Given the description of an element on the screen output the (x, y) to click on. 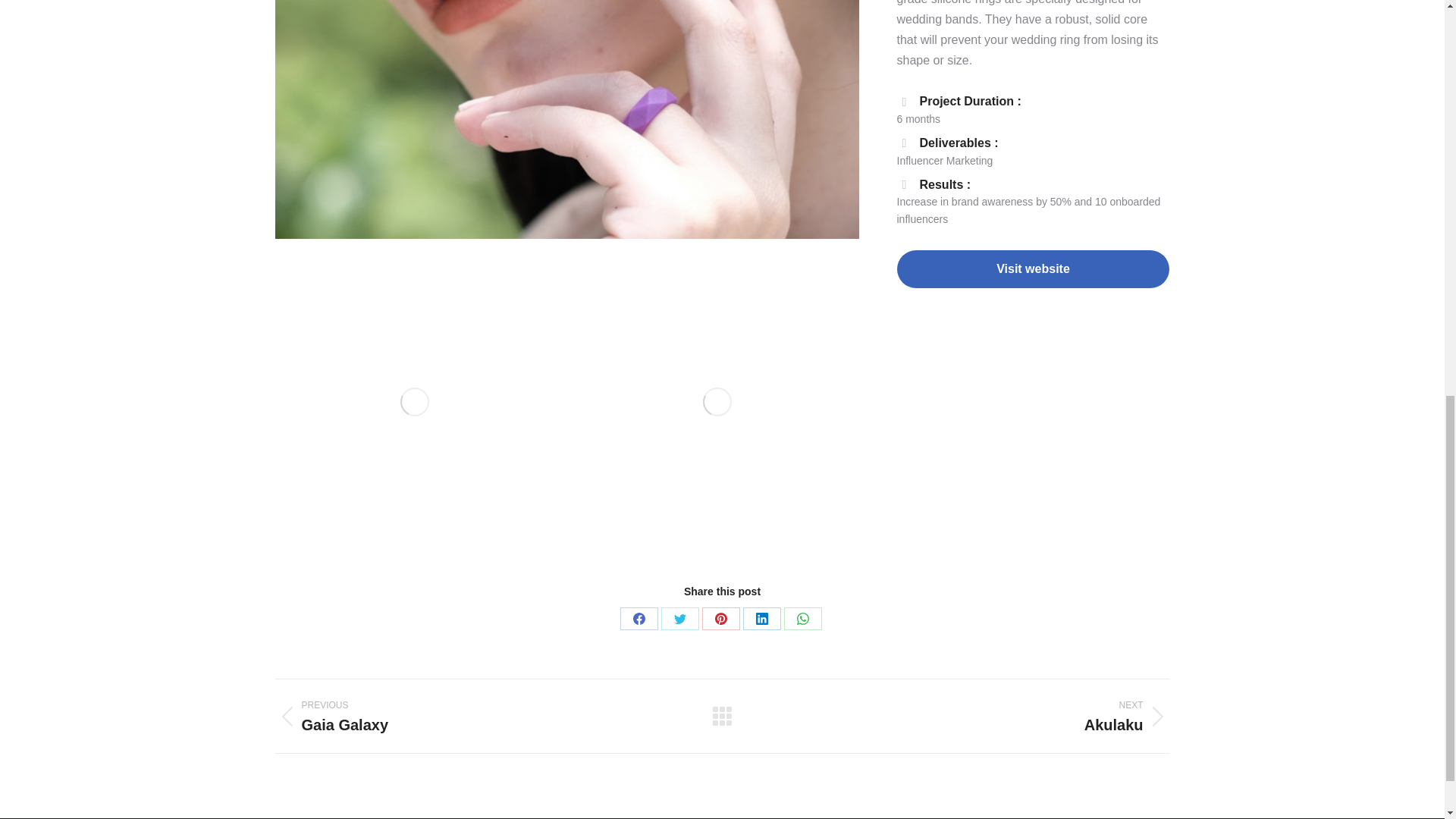
WhatsApp (803, 618)
Screen Shot 2022-06-24 at 11.55.06 AM (717, 401)
Twitter (679, 618)
LinkedIn (761, 618)
Pinterest (720, 618)
Screen Shot 2022-06-24 at 11.55.29 AM (414, 401)
Facebook (639, 618)
